Given the description of an element on the screen output the (x, y) to click on. 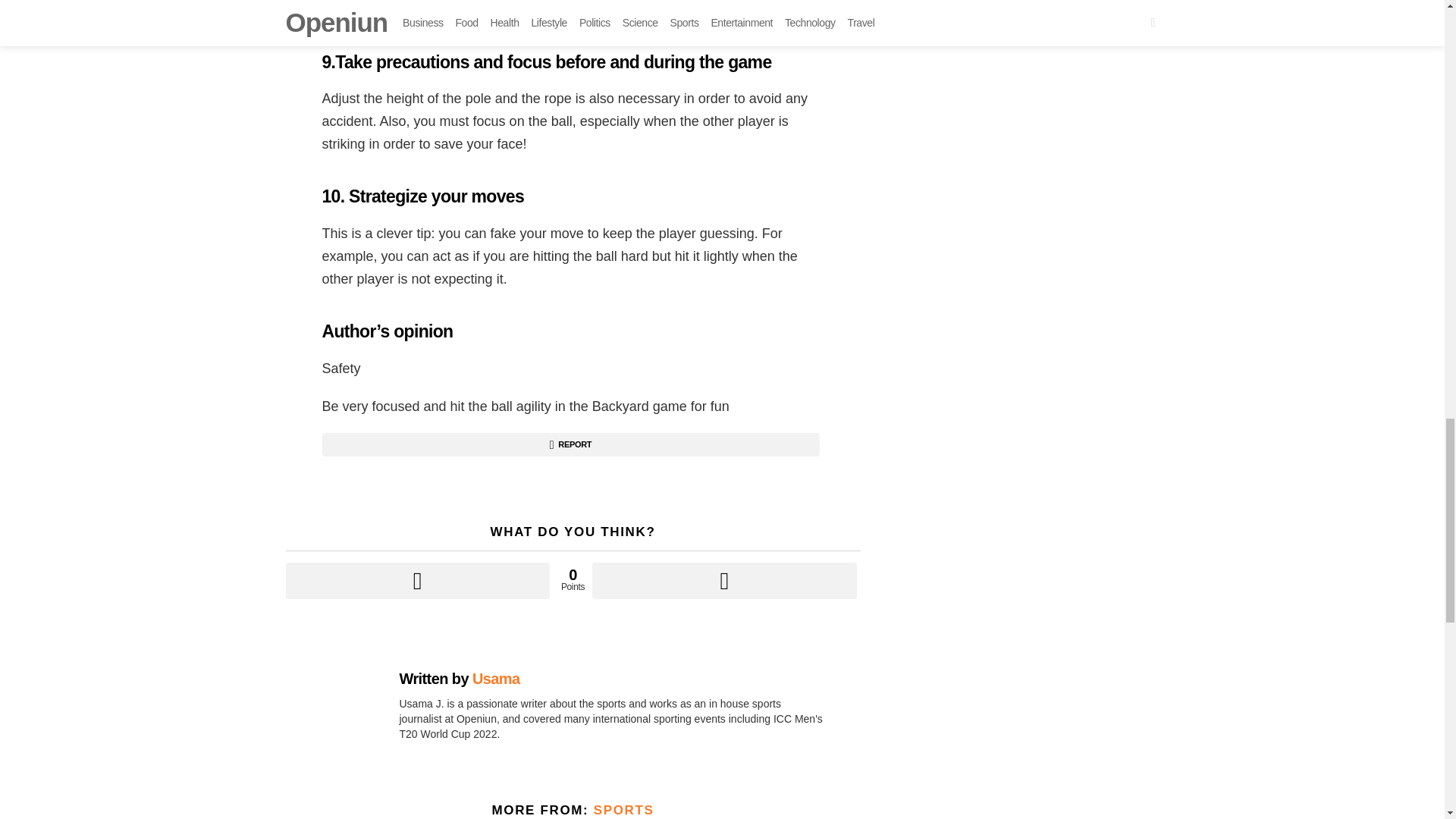
REPORT (569, 444)
Upvote (416, 580)
Usama (495, 678)
Downvote (724, 580)
Upvote (416, 580)
Downvote (724, 580)
SPORTS (623, 810)
